Given the description of an element on the screen output the (x, y) to click on. 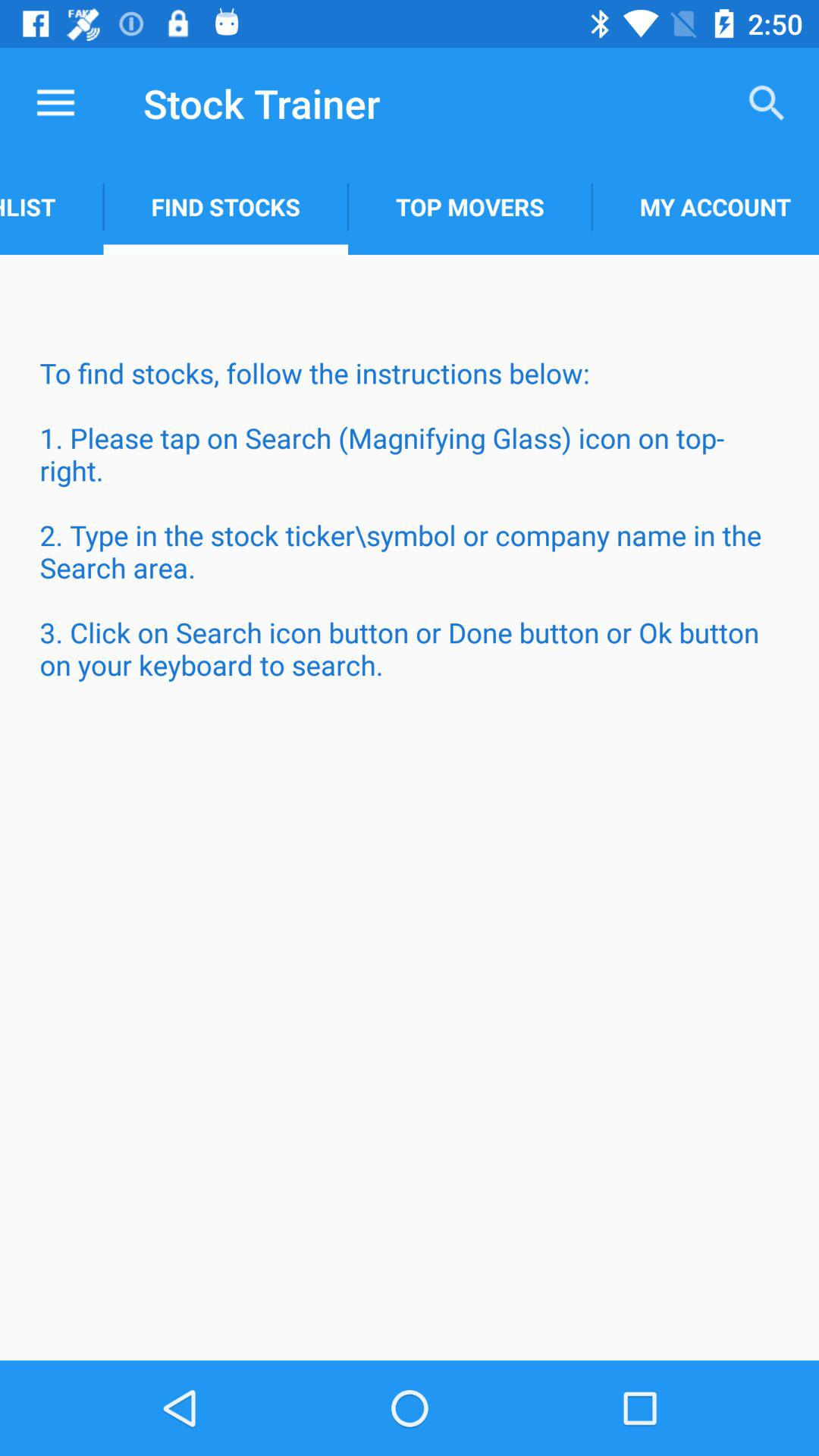
turn off item to the left of my account app (470, 206)
